Given the description of an element on the screen output the (x, y) to click on. 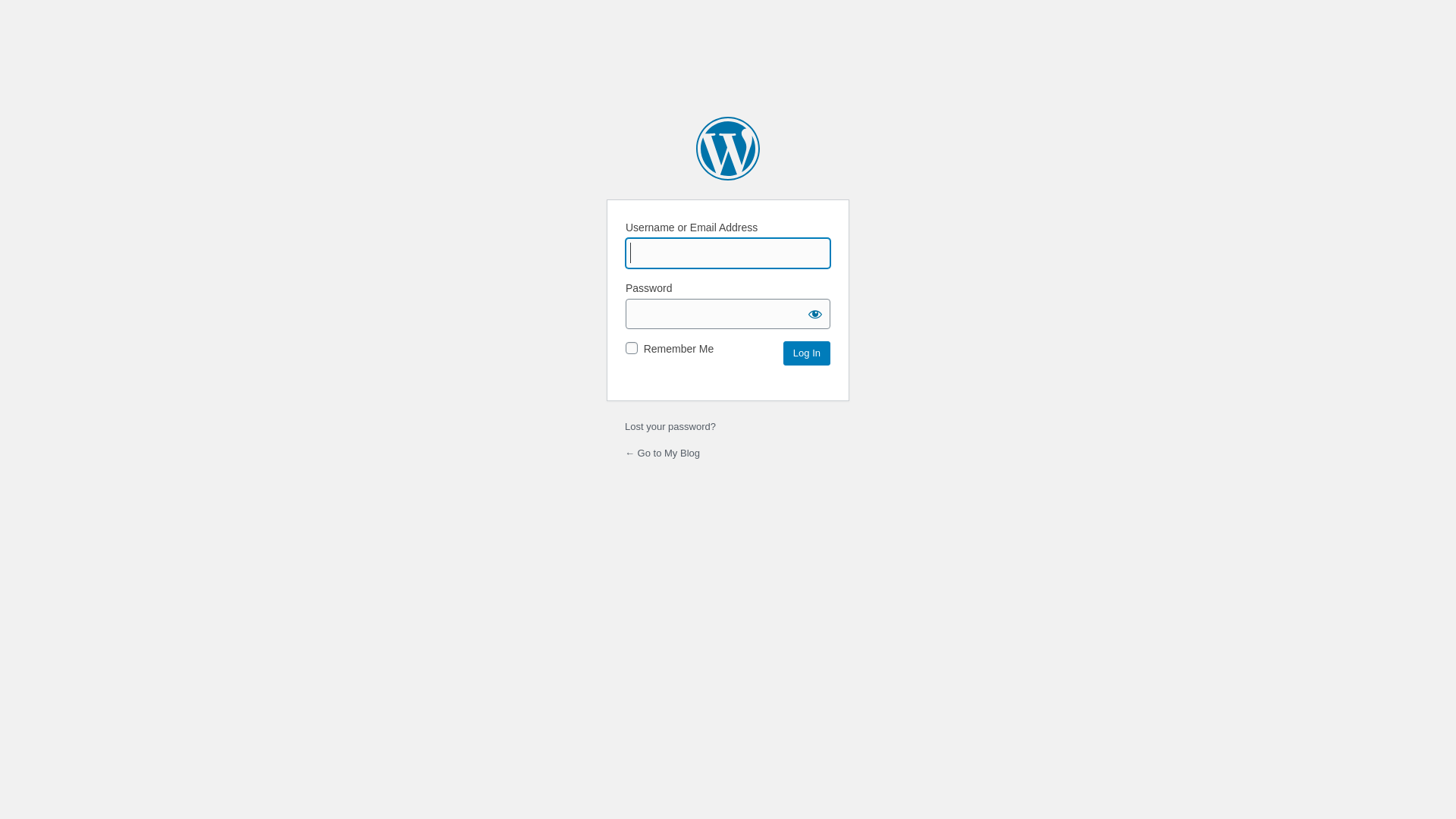
Log In Element type: text (806, 353)
Lost your password? Element type: text (669, 426)
Powered by WordPress Element type: text (727, 148)
